Given the description of an element on the screen output the (x, y) to click on. 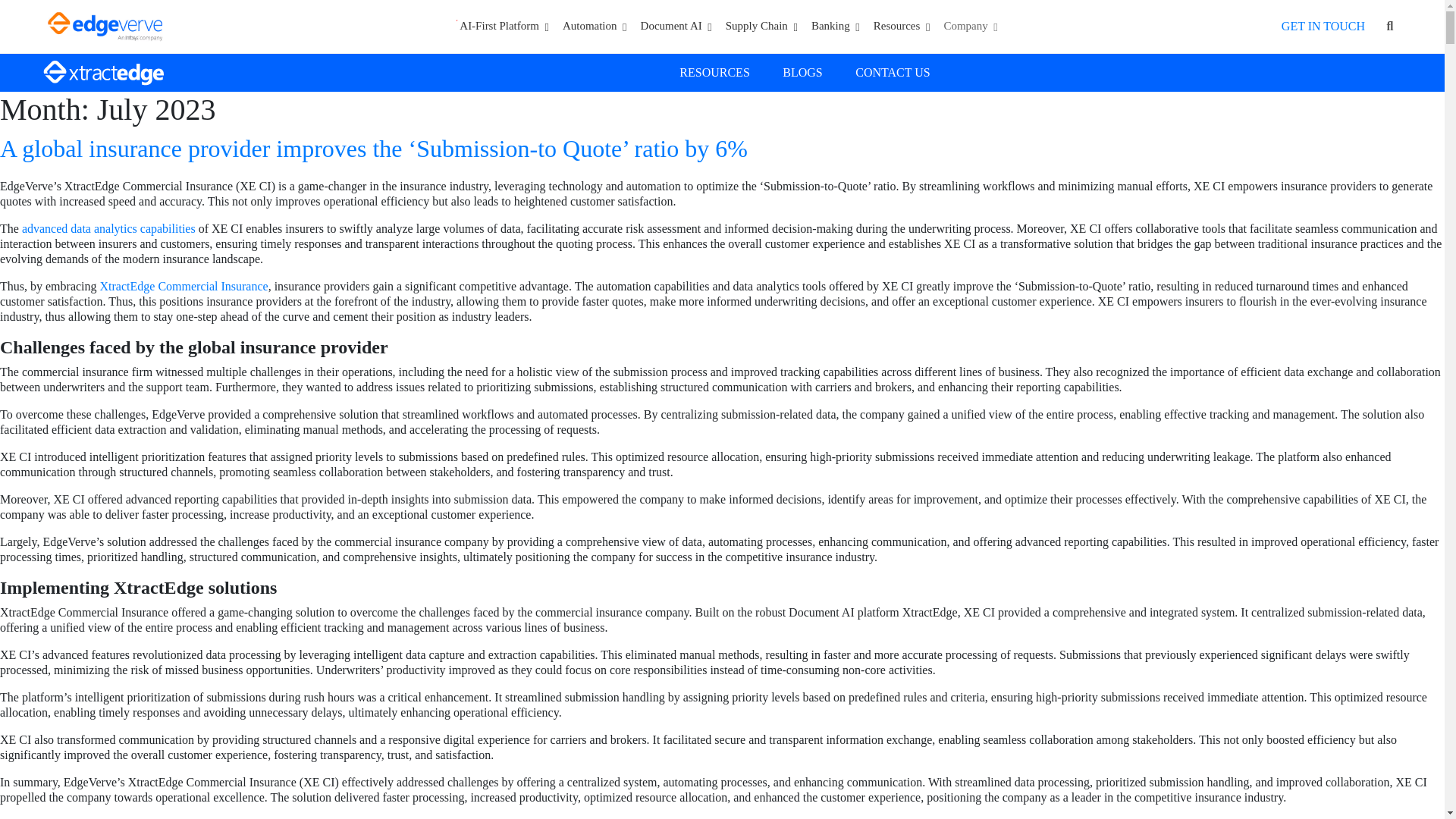
AI-First Platform (501, 26)
Automation (595, 26)
